Given the description of an element on the screen output the (x, y) to click on. 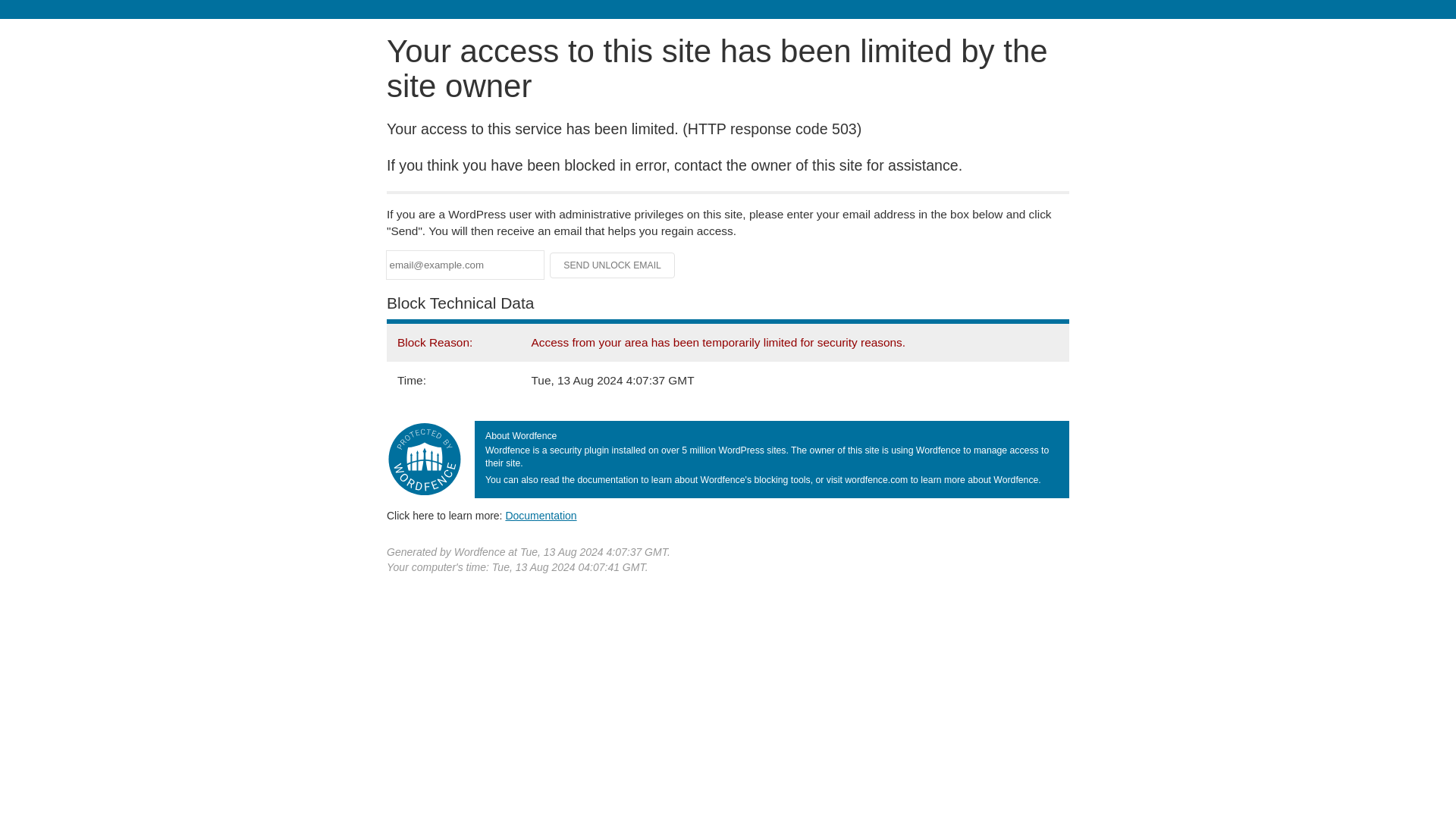
Documentation (540, 515)
Send Unlock Email (612, 265)
Send Unlock Email (612, 265)
